Given the description of an element on the screen output the (x, y) to click on. 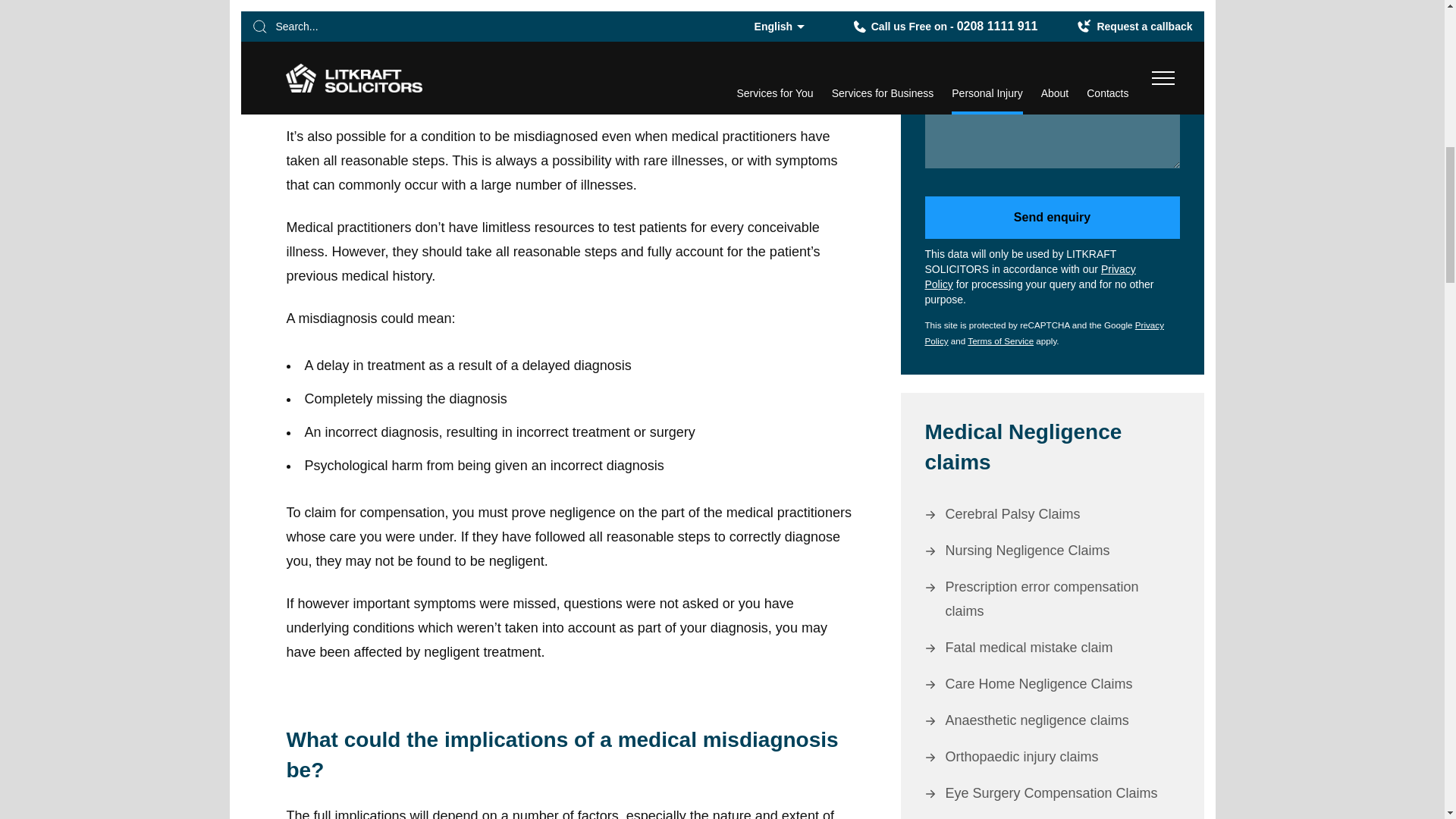
Send enquiry (1051, 217)
